Given the description of an element on the screen output the (x, y) to click on. 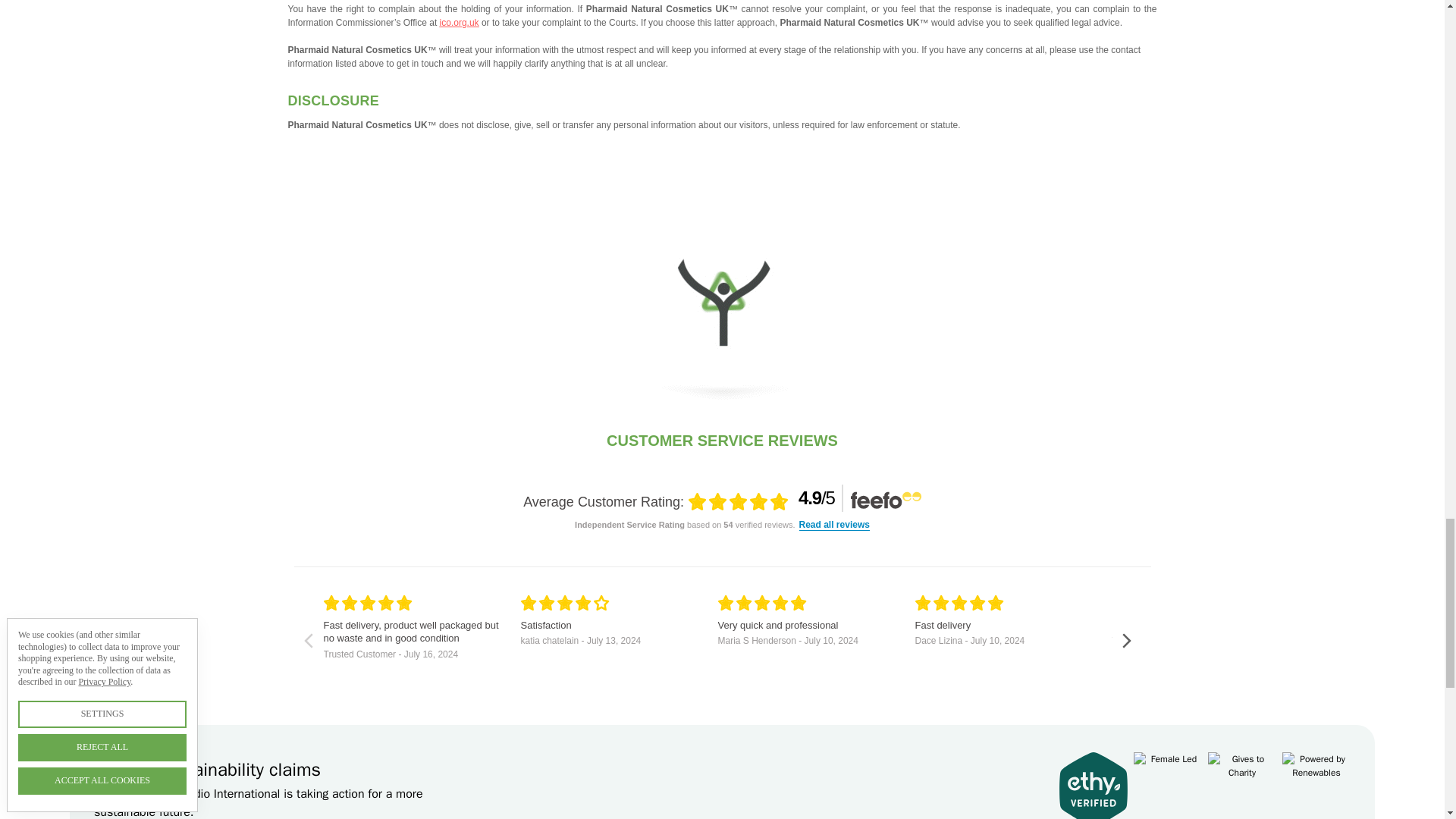
Body and Mind Studio International Logo (722, 300)
